Given the description of an element on the screen output the (x, y) to click on. 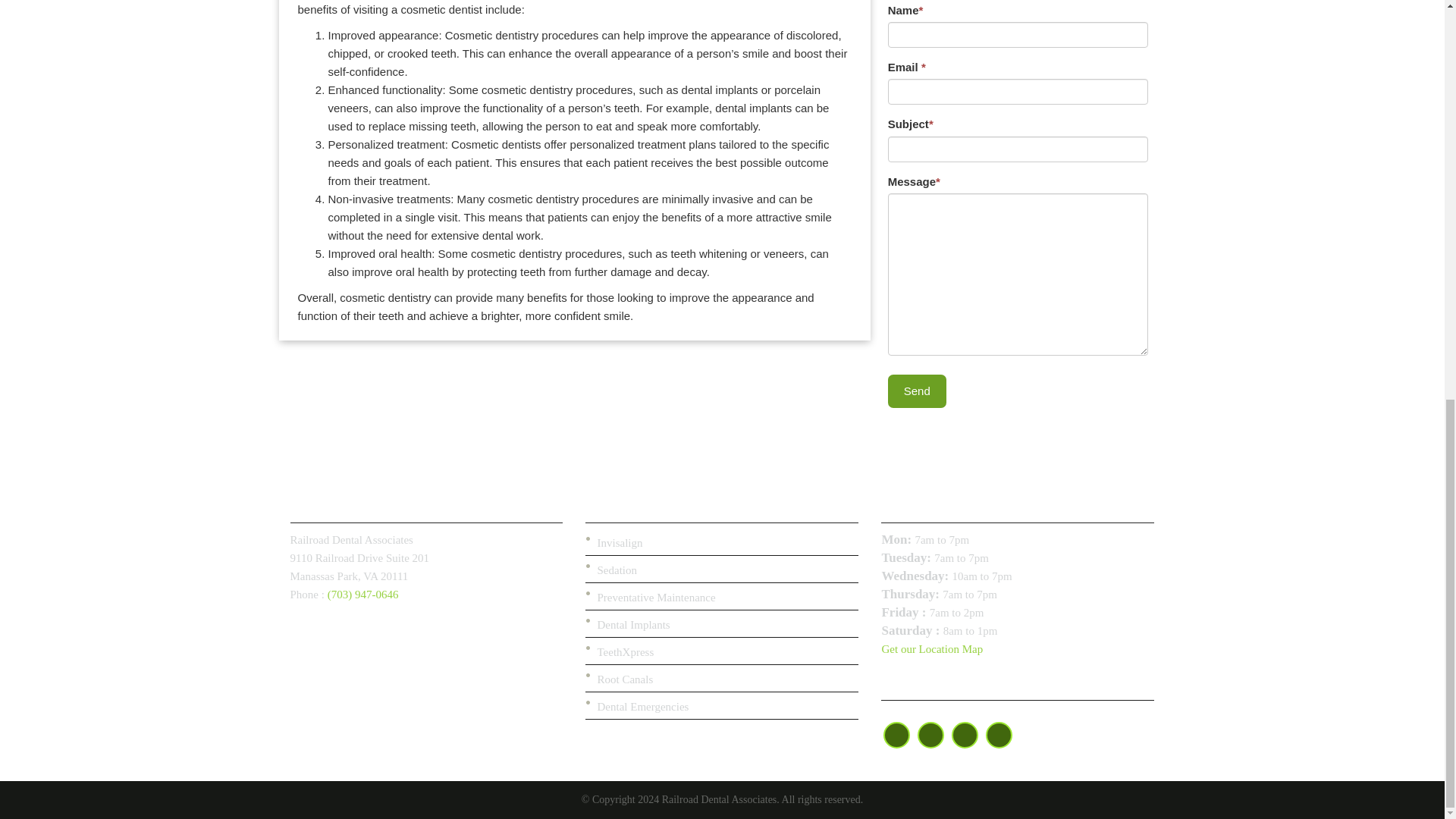
Send (917, 390)
